Given the description of an element on the screen output the (x, y) to click on. 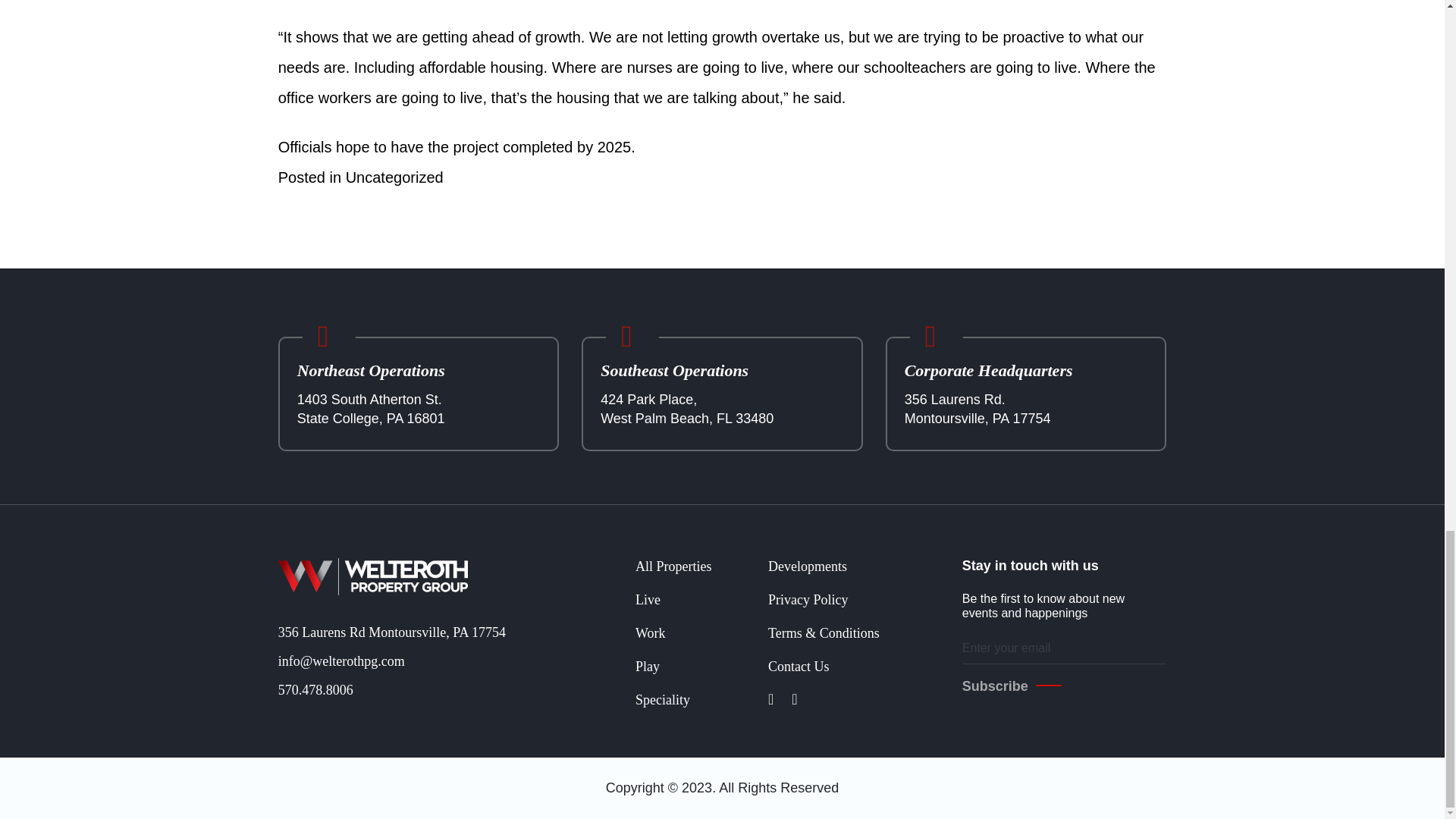
Speciality (662, 699)
570.478.8006 (425, 689)
Play (646, 666)
Work (649, 632)
All Properties (672, 566)
Uncategorized (395, 176)
Developments (807, 566)
Privacy Policy (808, 599)
Subscribe (1011, 685)
Live (647, 599)
